Given the description of an element on the screen output the (x, y) to click on. 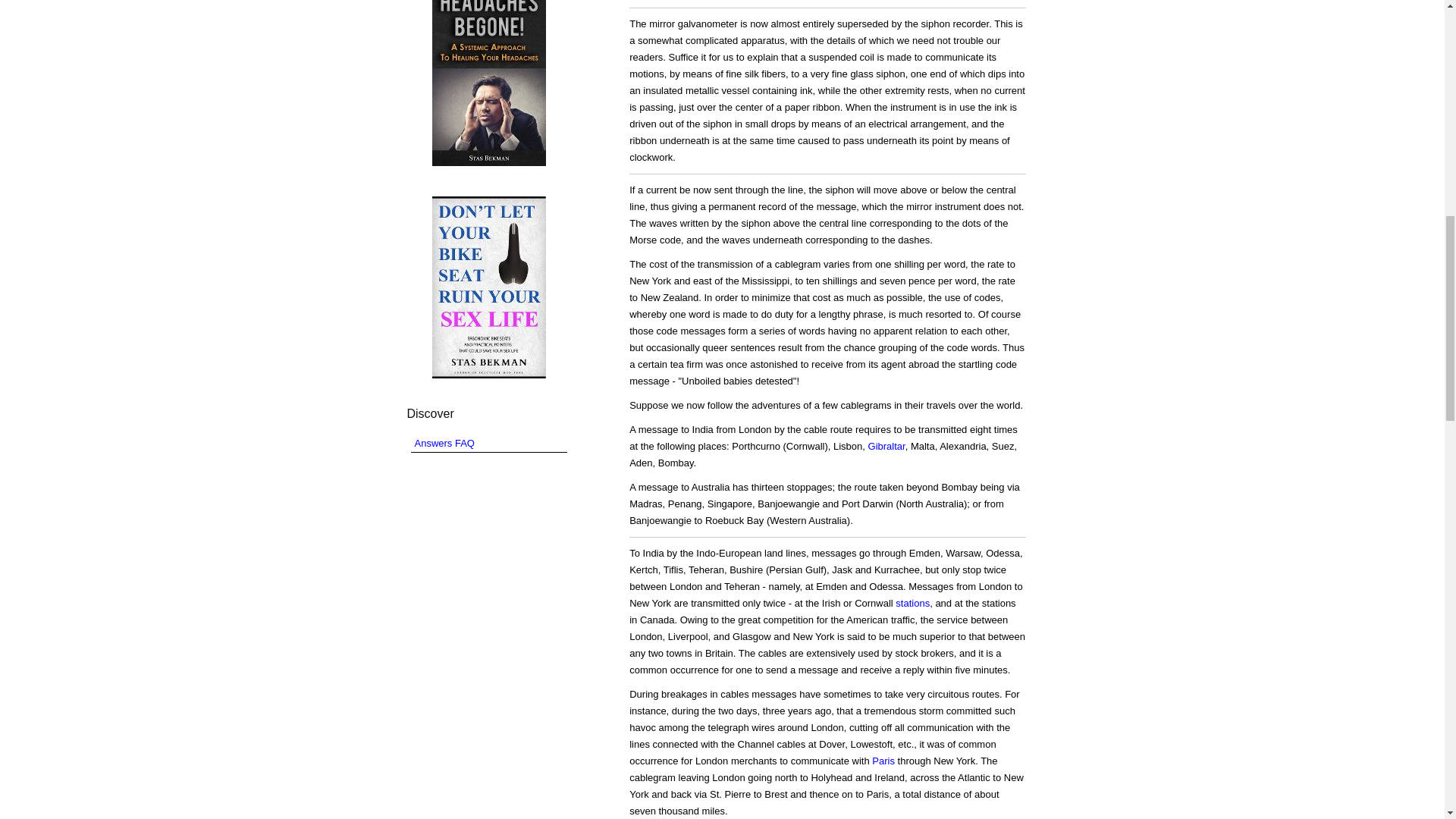
Gibraltar (886, 446)
Paris (883, 760)
stations (912, 603)
